Given the description of an element on the screen output the (x, y) to click on. 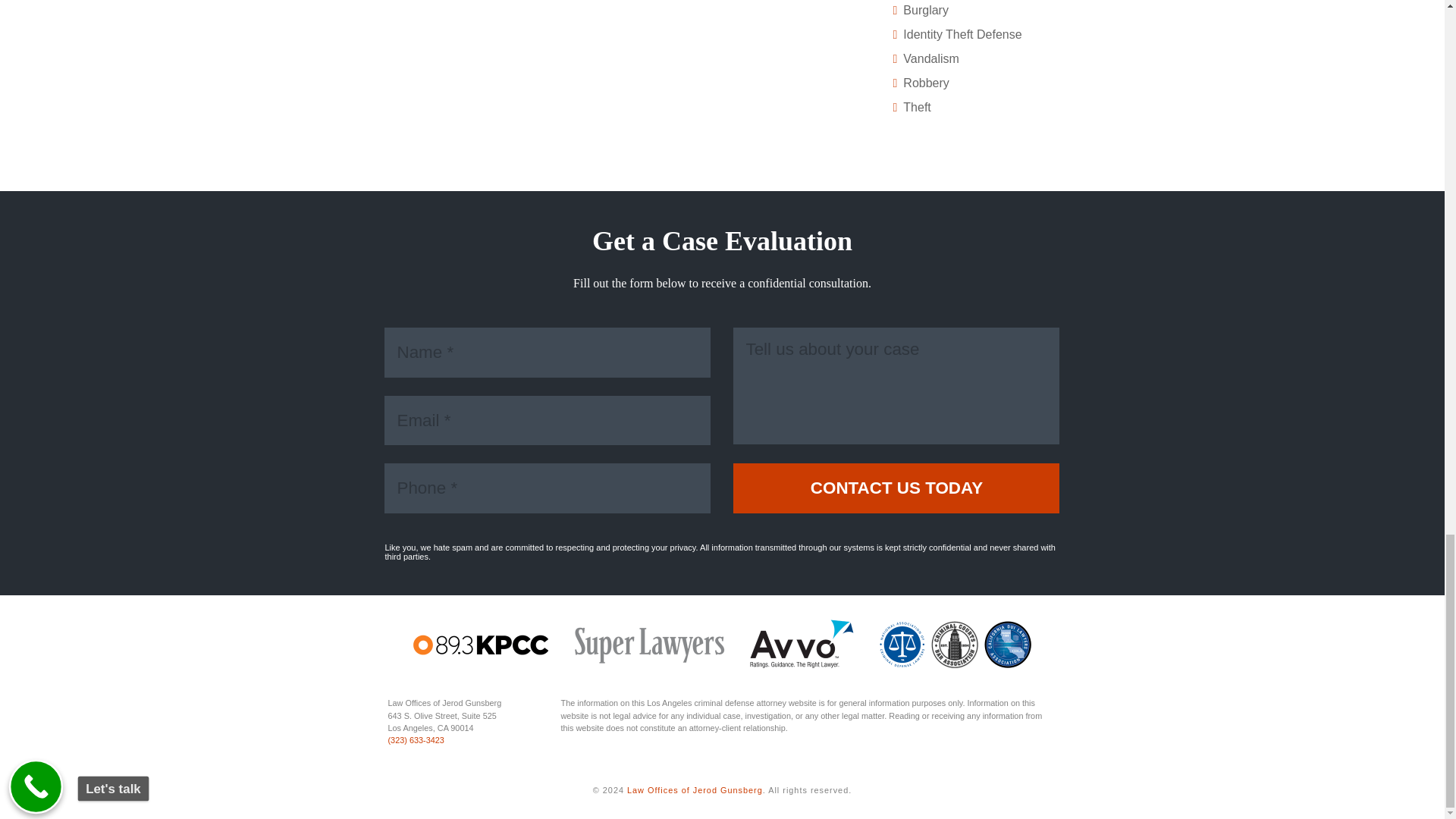
Contact us today (896, 488)
